Given the description of an element on the screen output the (x, y) to click on. 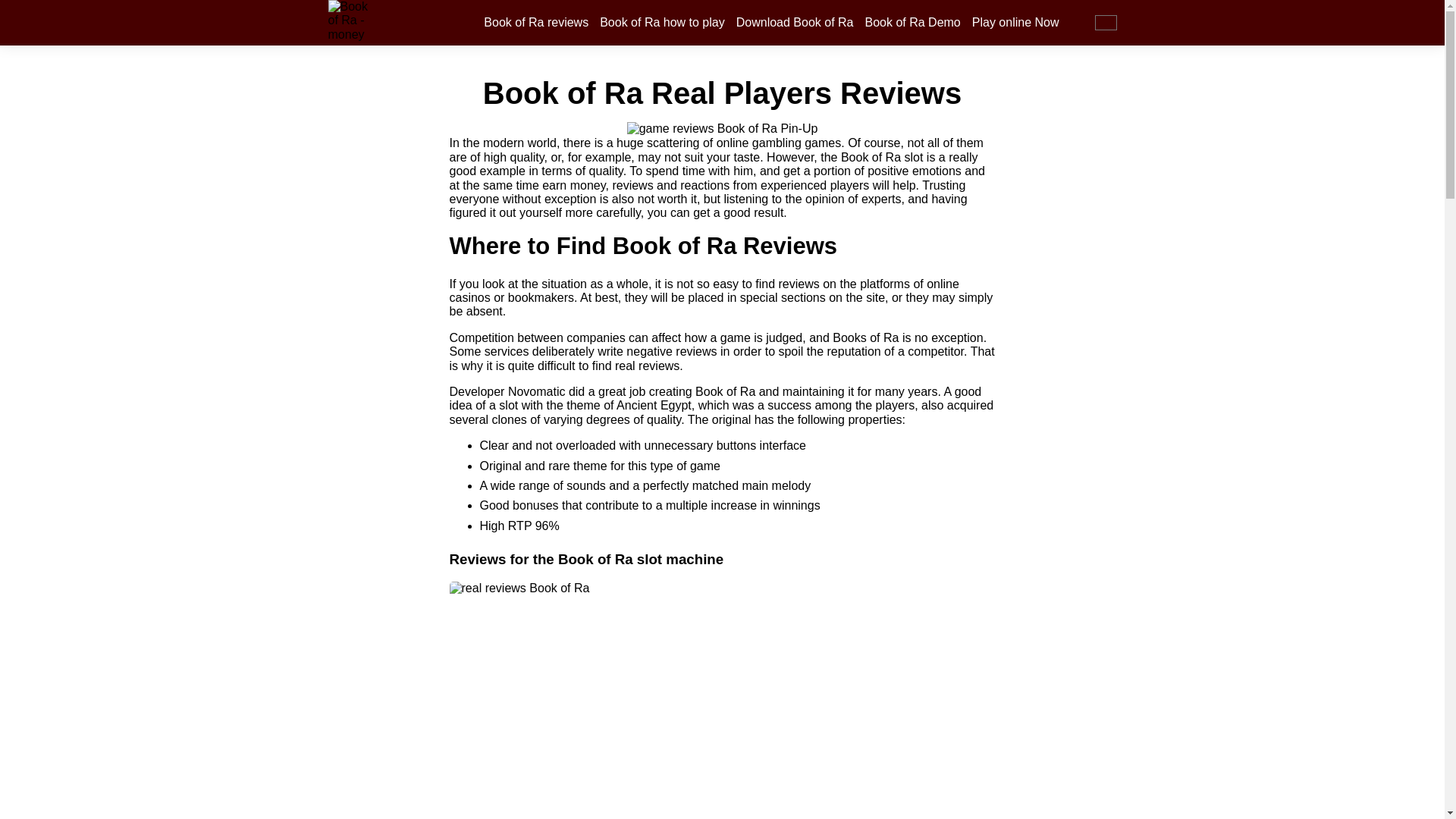
Book of Ra Demo (911, 22)
Book of Ra money game (349, 22)
game reviews Book of Ra Pin-Up (722, 128)
real reviews Book of Ra (535, 22)
real reviews Book of Ra (721, 700)
Book of Ra reviews (535, 22)
Demo game Book of Ra Pin-Up, 1win, Parimatch (911, 22)
Download Book of Ra (794, 22)
Download Book of Ra Slot Pin-Up, 1win, Parimatch (794, 22)
Book of Ra how to play (662, 22)
